Given the description of an element on the screen output the (x, y) to click on. 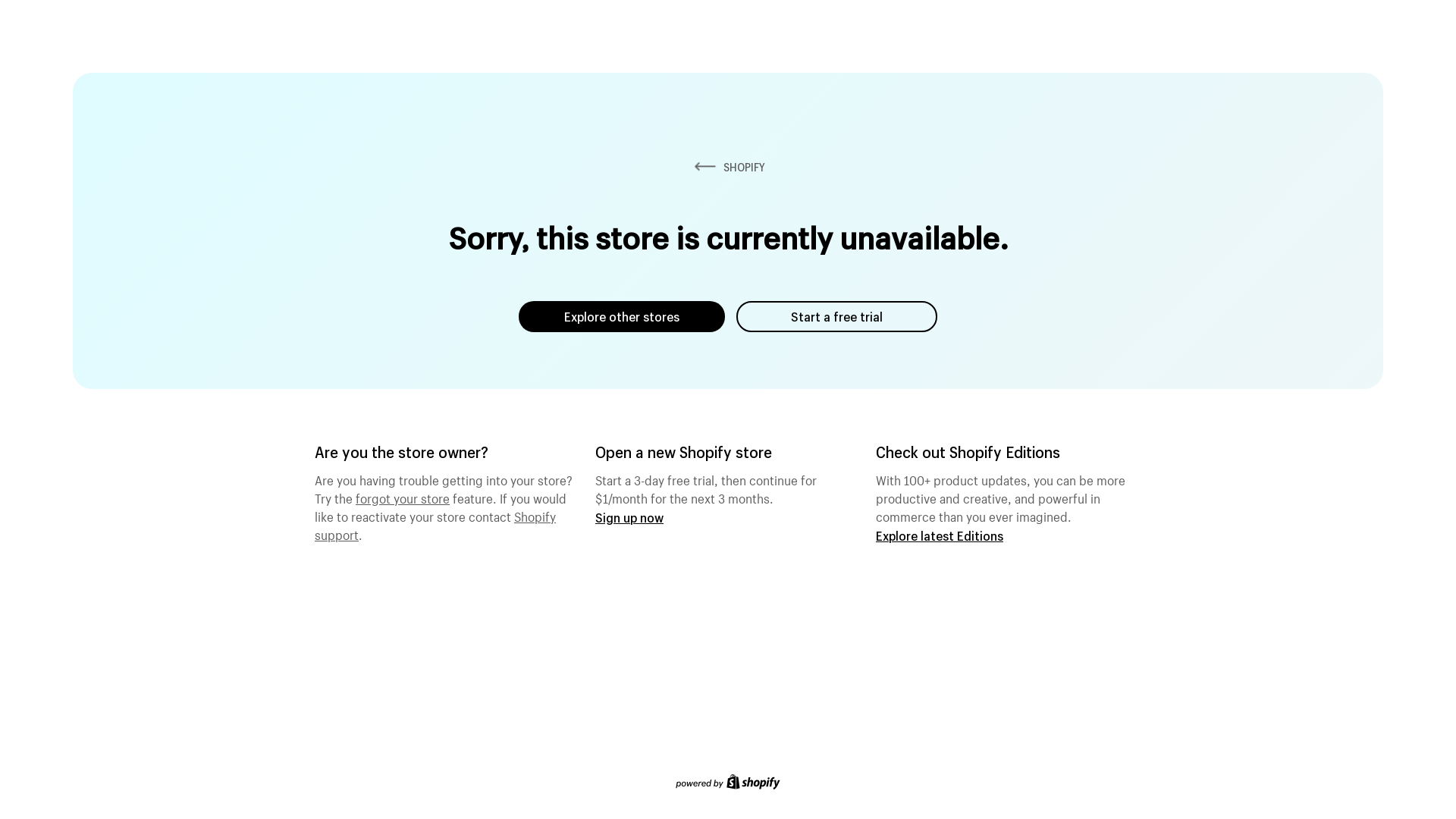
Sign up now Element type: text (629, 517)
Shopify support Element type: text (434, 523)
Explore latest Editions Element type: text (939, 535)
SHOPIFY Element type: text (727, 167)
forgot your store Element type: text (402, 496)
Start a free trial Element type: text (836, 316)
Explore other stores Element type: text (621, 316)
